Given the description of an element on the screen output the (x, y) to click on. 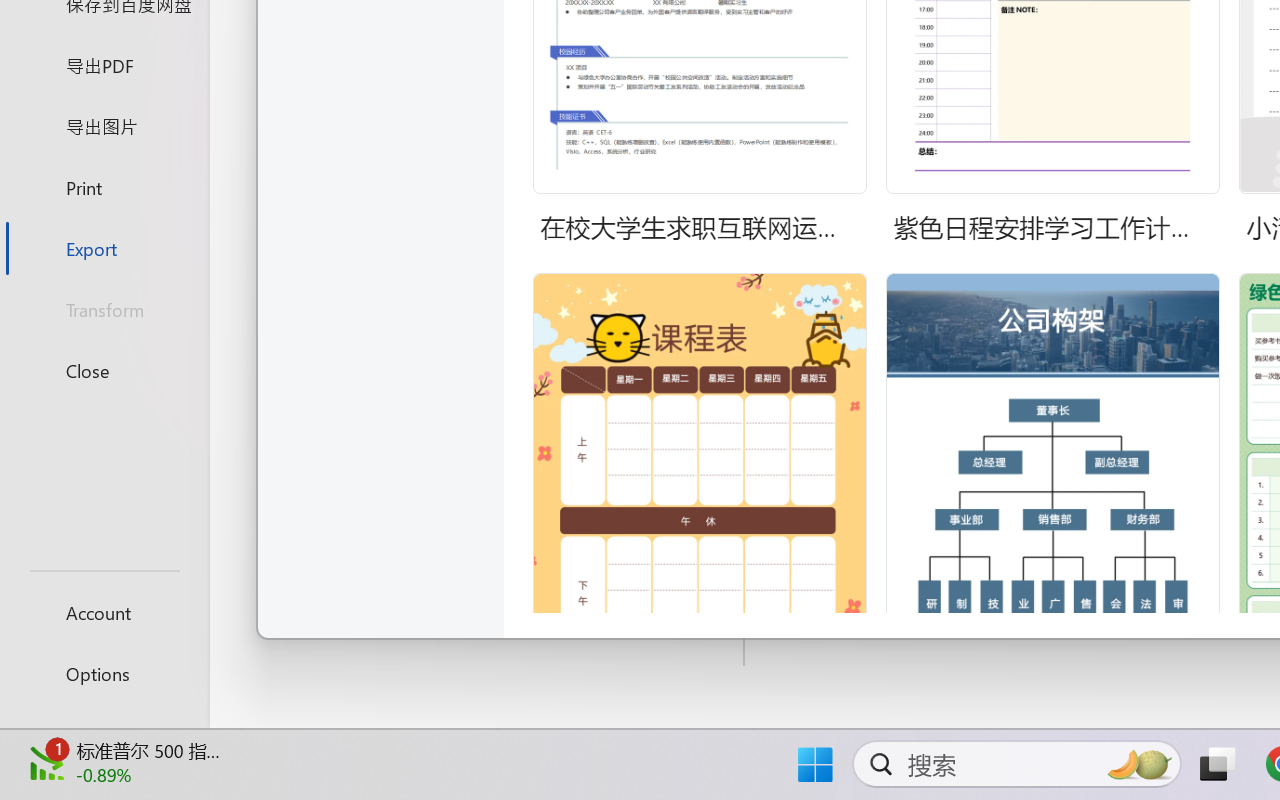
Print (104, 186)
